Given the description of an element on the screen output the (x, y) to click on. 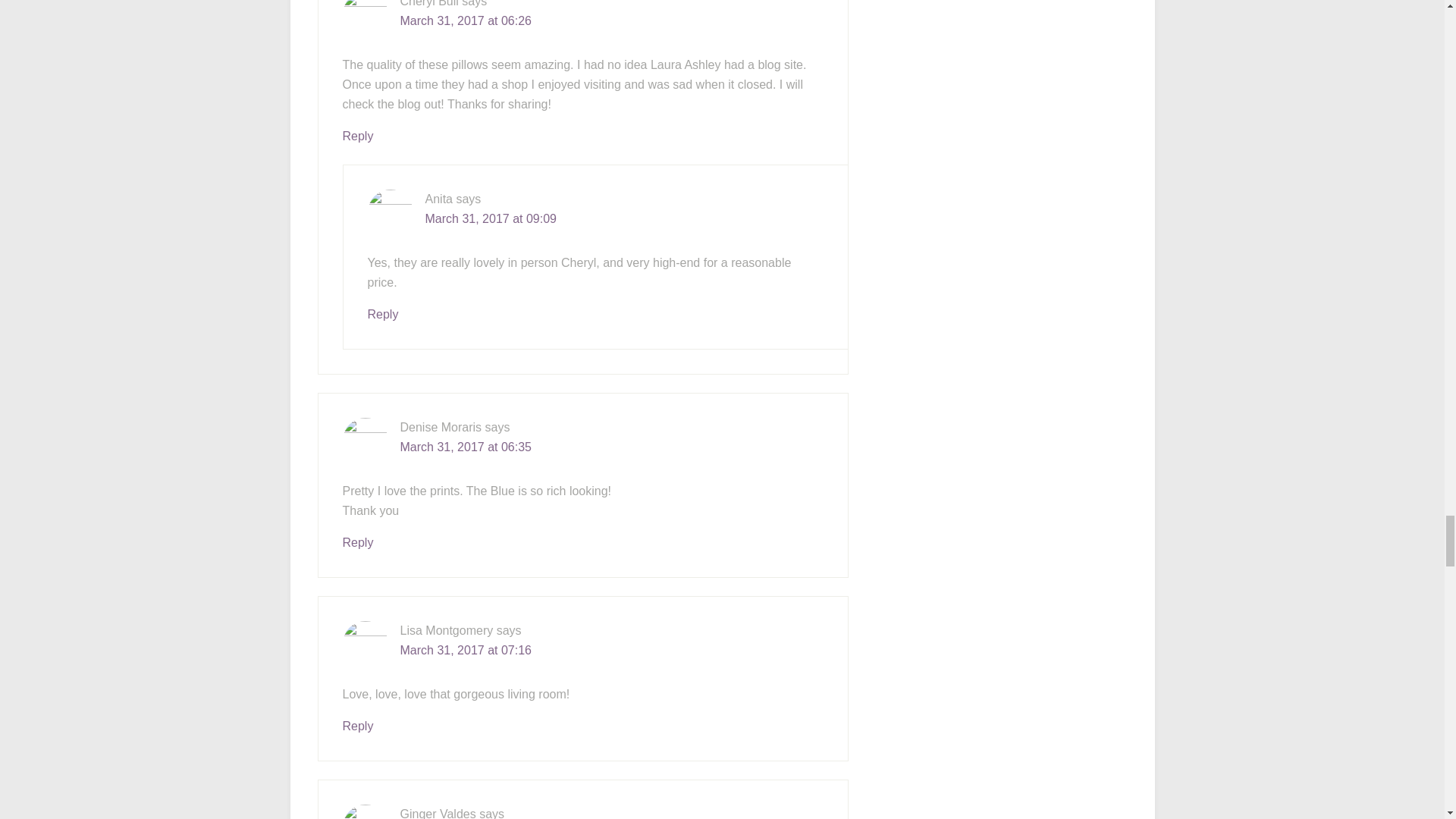
Reply (358, 542)
Reply (358, 725)
March 31, 2017 at 09:09 (490, 218)
Reply (358, 135)
March 31, 2017 at 06:35 (465, 446)
March 31, 2017 at 07:16 (465, 649)
Reply (381, 314)
March 31, 2017 at 06:26 (465, 20)
